Given the description of an element on the screen output the (x, y) to click on. 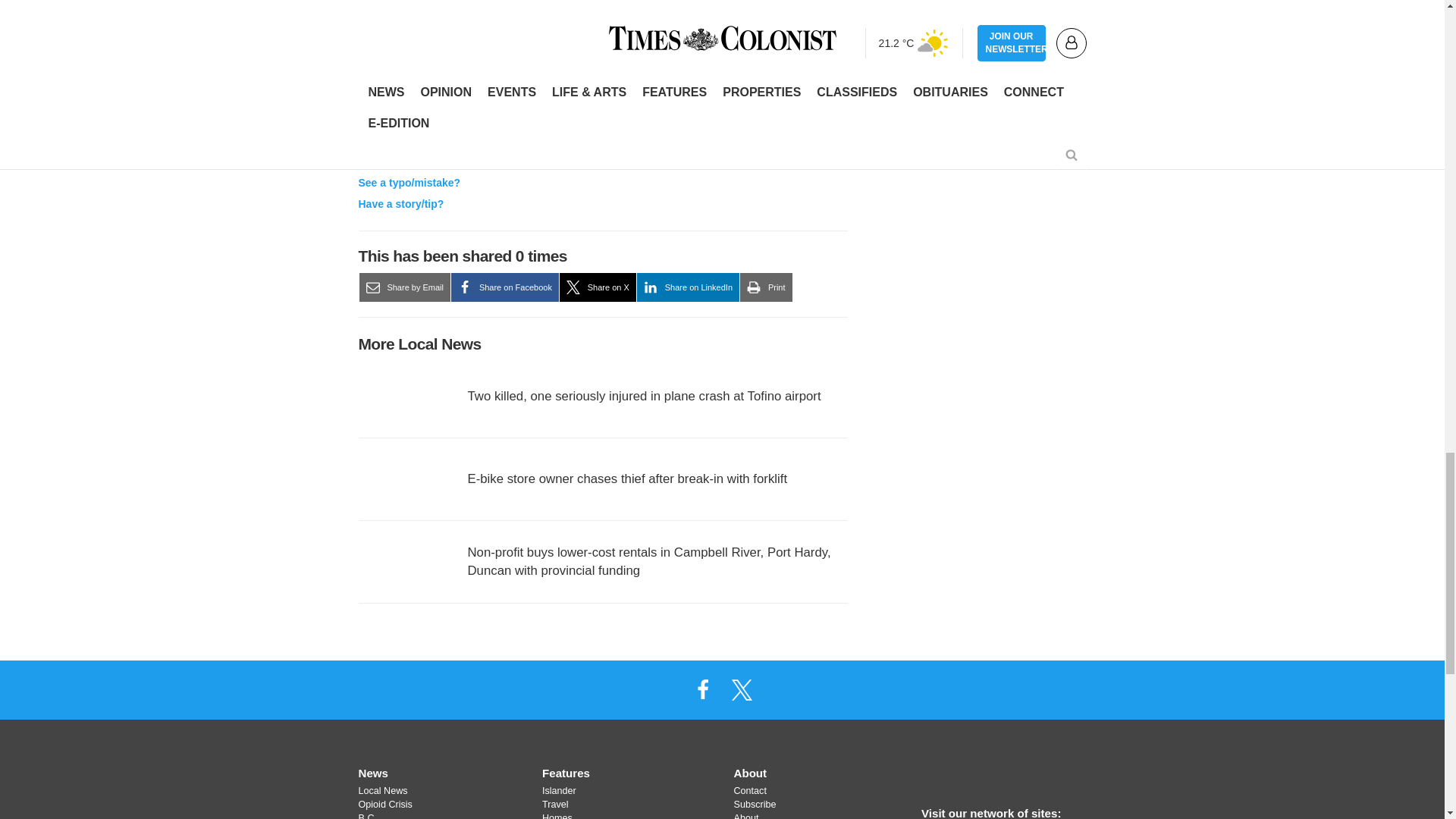
X (741, 688)
Facebook (702, 688)
